Given the description of an element on the screen output the (x, y) to click on. 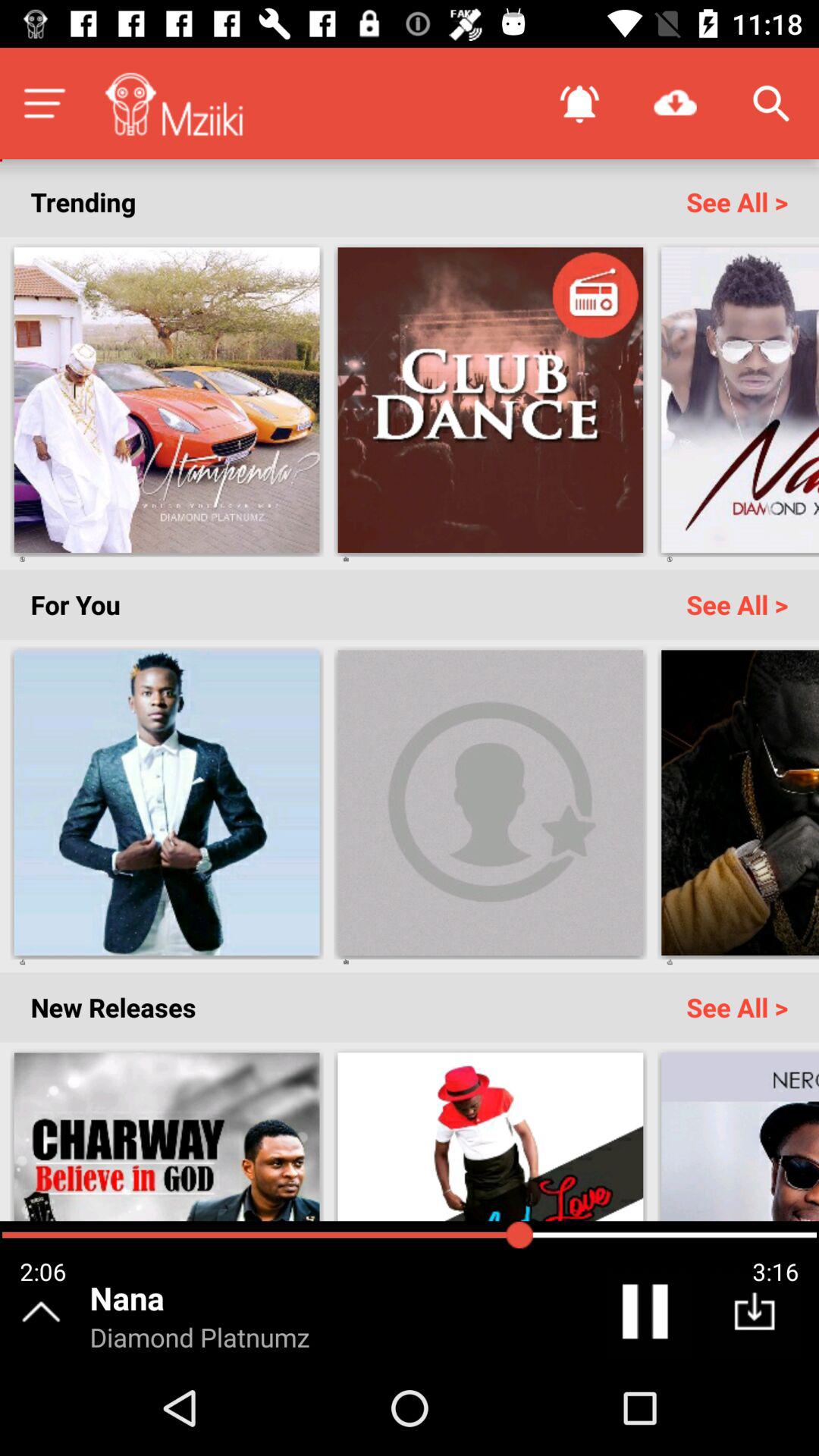
view options (44, 103)
